Given the description of an element on the screen output the (x, y) to click on. 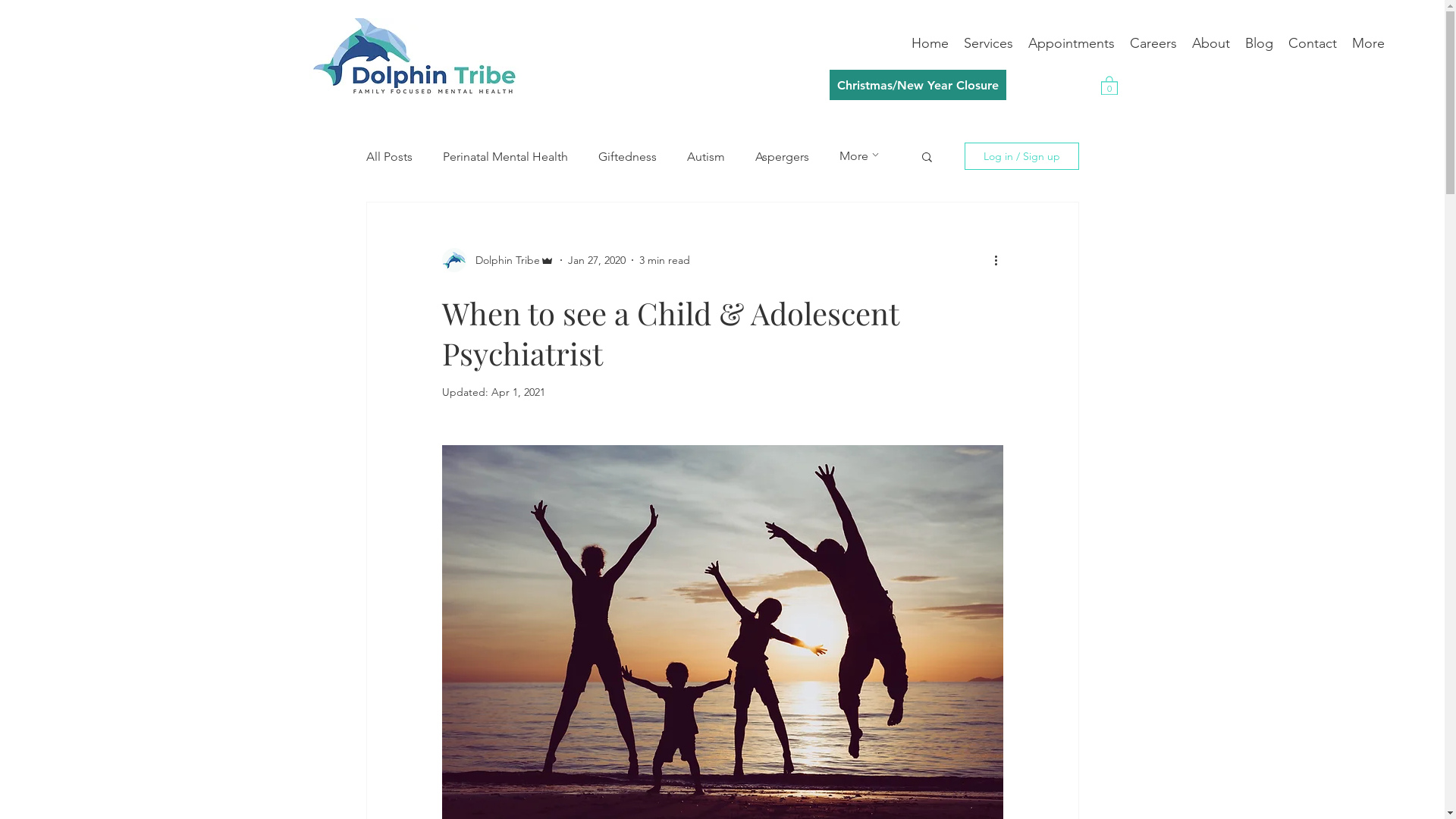
Home Element type: text (929, 43)
Autism Element type: text (705, 155)
Log in / Sign up Element type: text (1021, 155)
Blog Element type: text (1258, 43)
Perinatal Mental Health Element type: text (504, 155)
0 Element type: text (1109, 84)
Christmas/New Year Closure Element type: text (917, 84)
Giftedness Element type: text (626, 155)
Aspergers Element type: text (782, 155)
Dolphin Tribe Logo Element type: hover (413, 56)
Services Element type: text (988, 43)
Contact Element type: text (1312, 43)
All Posts Element type: text (388, 155)
Careers Element type: text (1153, 43)
